Given the description of an element on the screen output the (x, y) to click on. 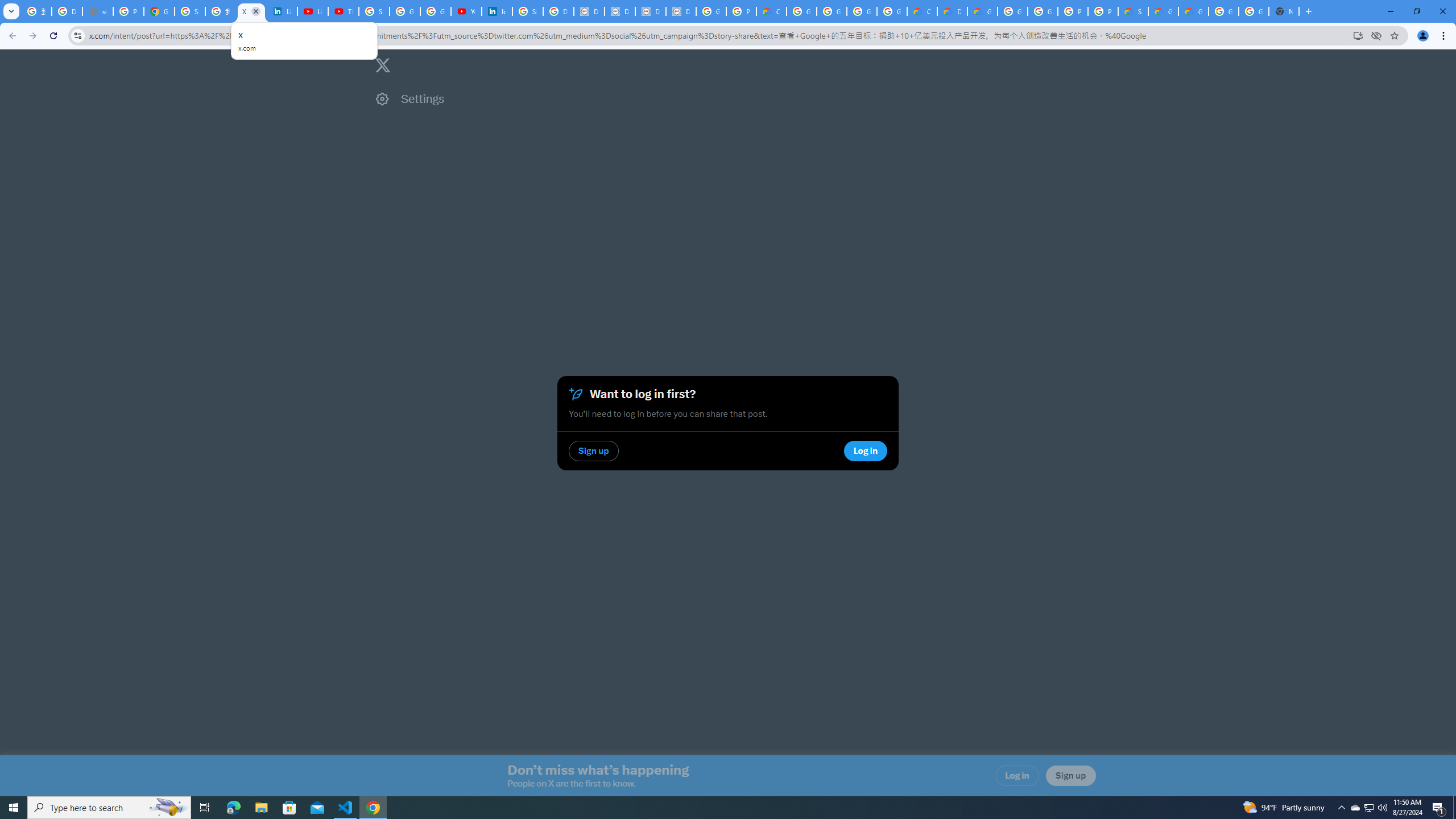
Google Cloud Platform (1253, 11)
